Given the description of an element on the screen output the (x, y) to click on. 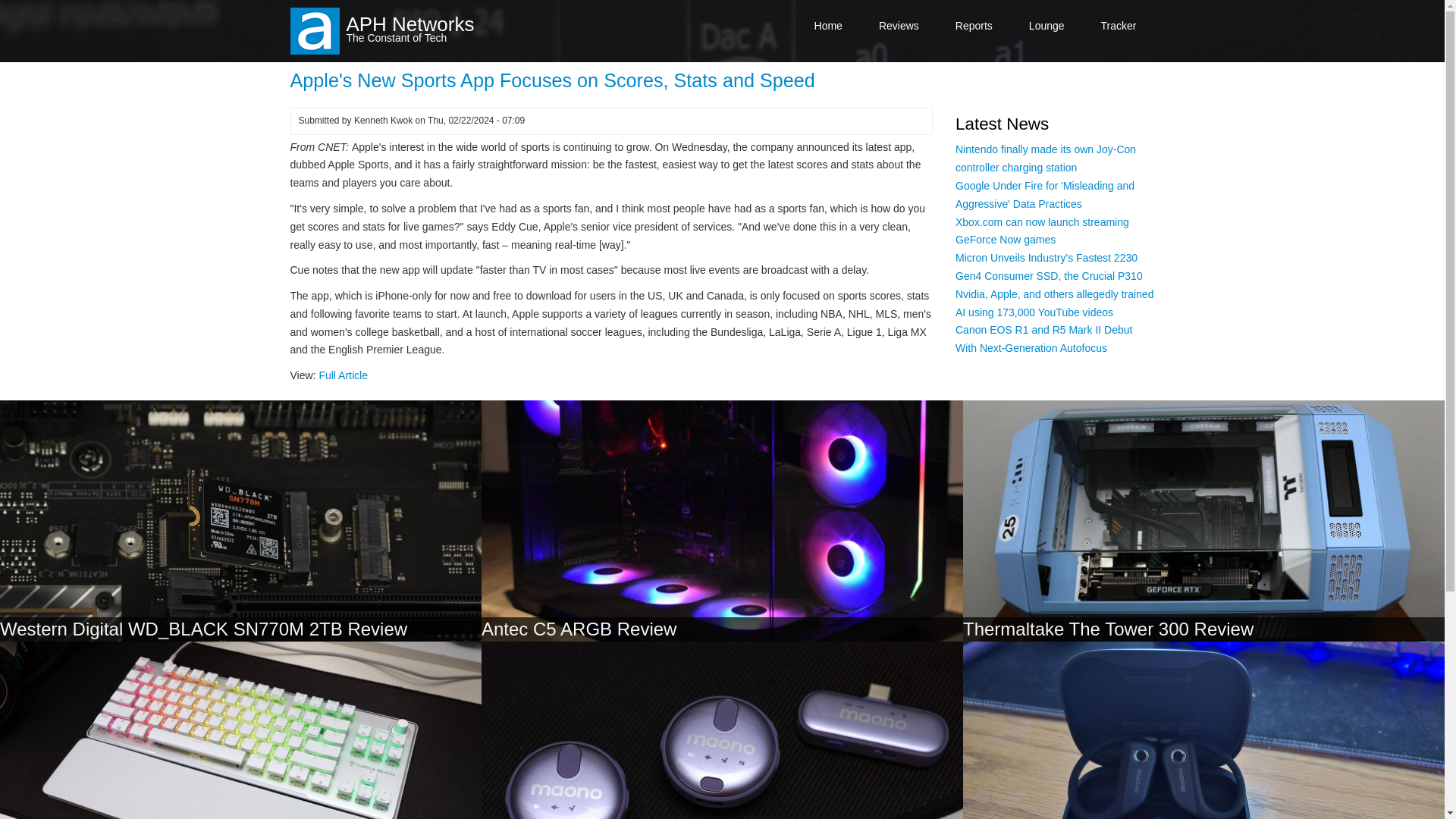
Reviews of technology equipment (898, 26)
See the latest review schedule (1118, 26)
Home (314, 30)
Reviews (898, 26)
Full Article (343, 375)
Thursday, February 22, 2024 - 07:09 (476, 120)
Antec C5 ARGB Review (579, 629)
Home (410, 24)
Home (828, 26)
Thermaltake The Tower 300 Review (1107, 629)
Cool products, funny stuff, tutorials (1046, 26)
